Given the description of an element on the screen output the (x, y) to click on. 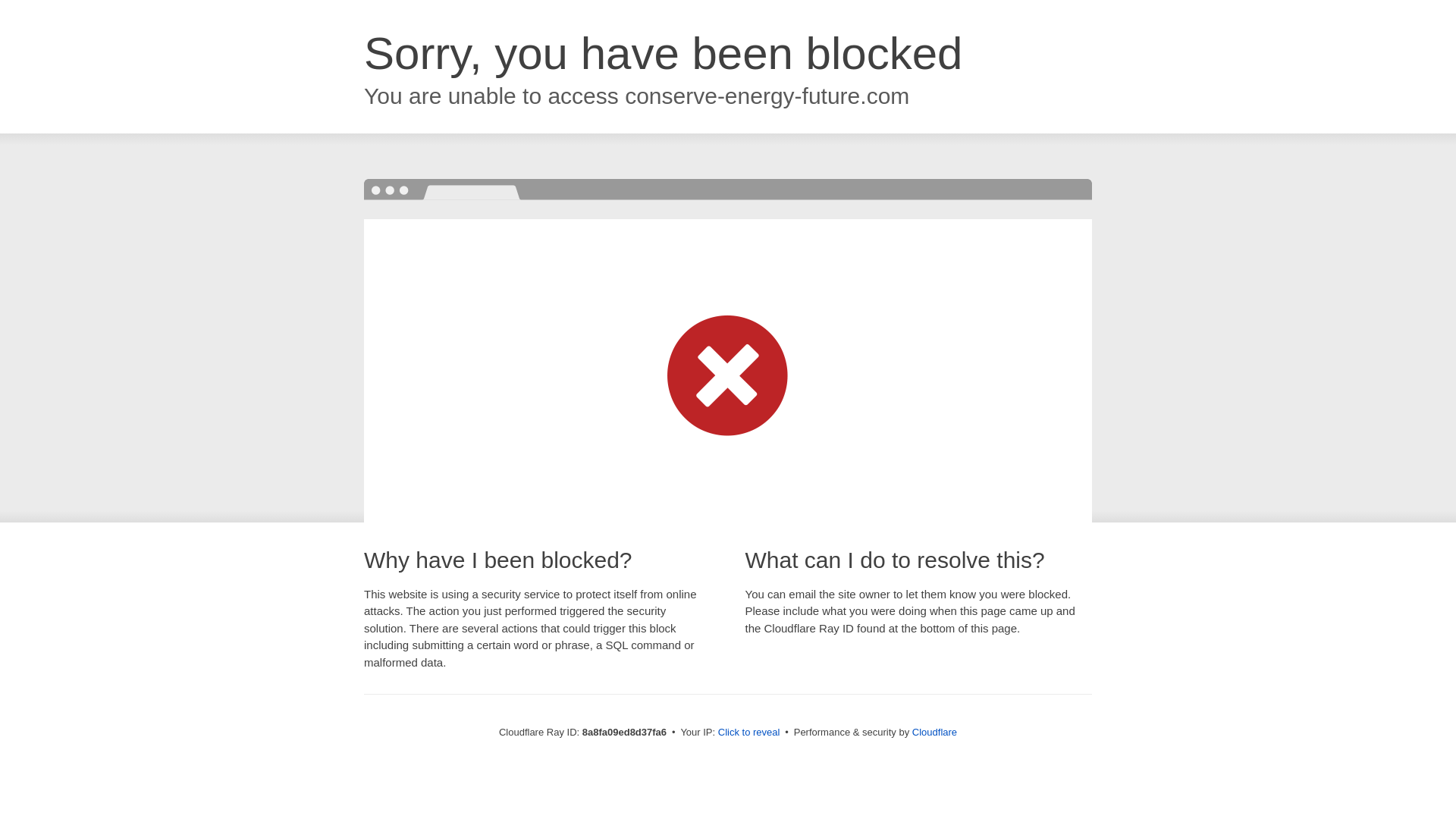
Click to reveal (748, 732)
Cloudflare (934, 731)
